Given the description of an element on the screen output the (x, y) to click on. 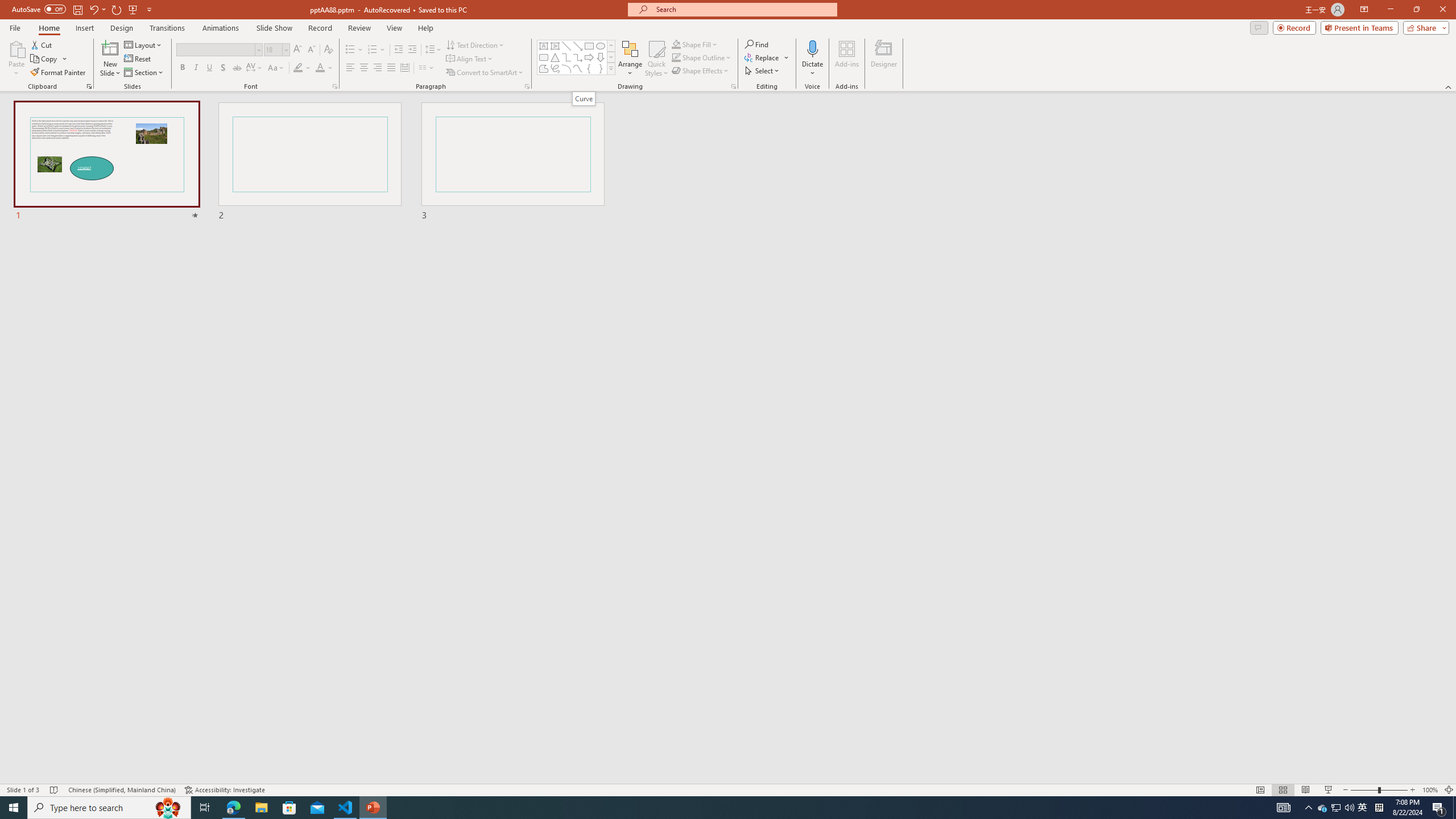
Zoom 100% (1430, 790)
